Given the description of an element on the screen output the (x, y) to click on. 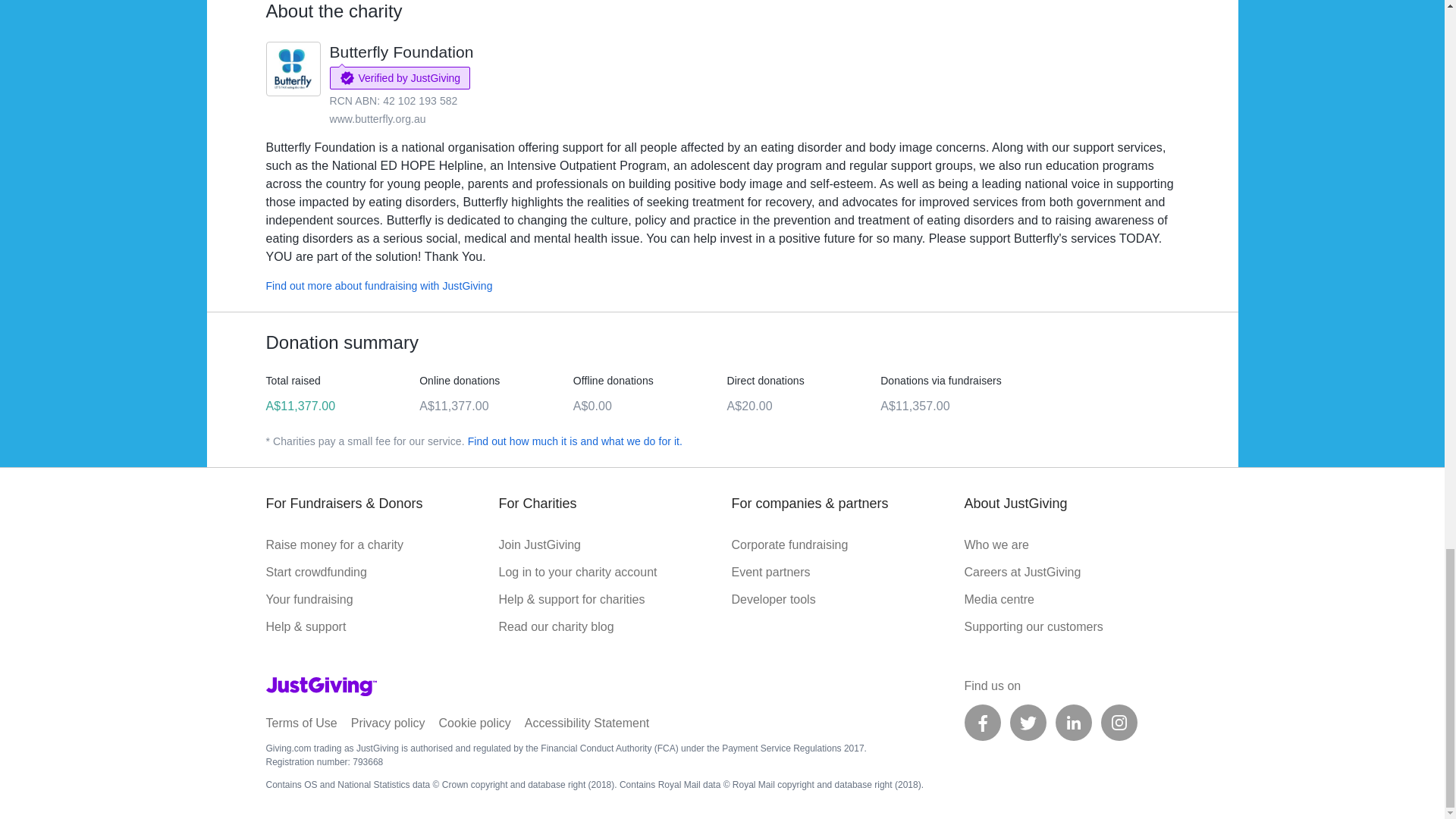
Find out more about fundraising with JustGiving (378, 285)
Find out how much it is and what we do for it. (574, 440)
Butterfly Foundation (401, 51)
www.butterfly.org.au (377, 119)
